Given the description of an element on the screen output the (x, y) to click on. 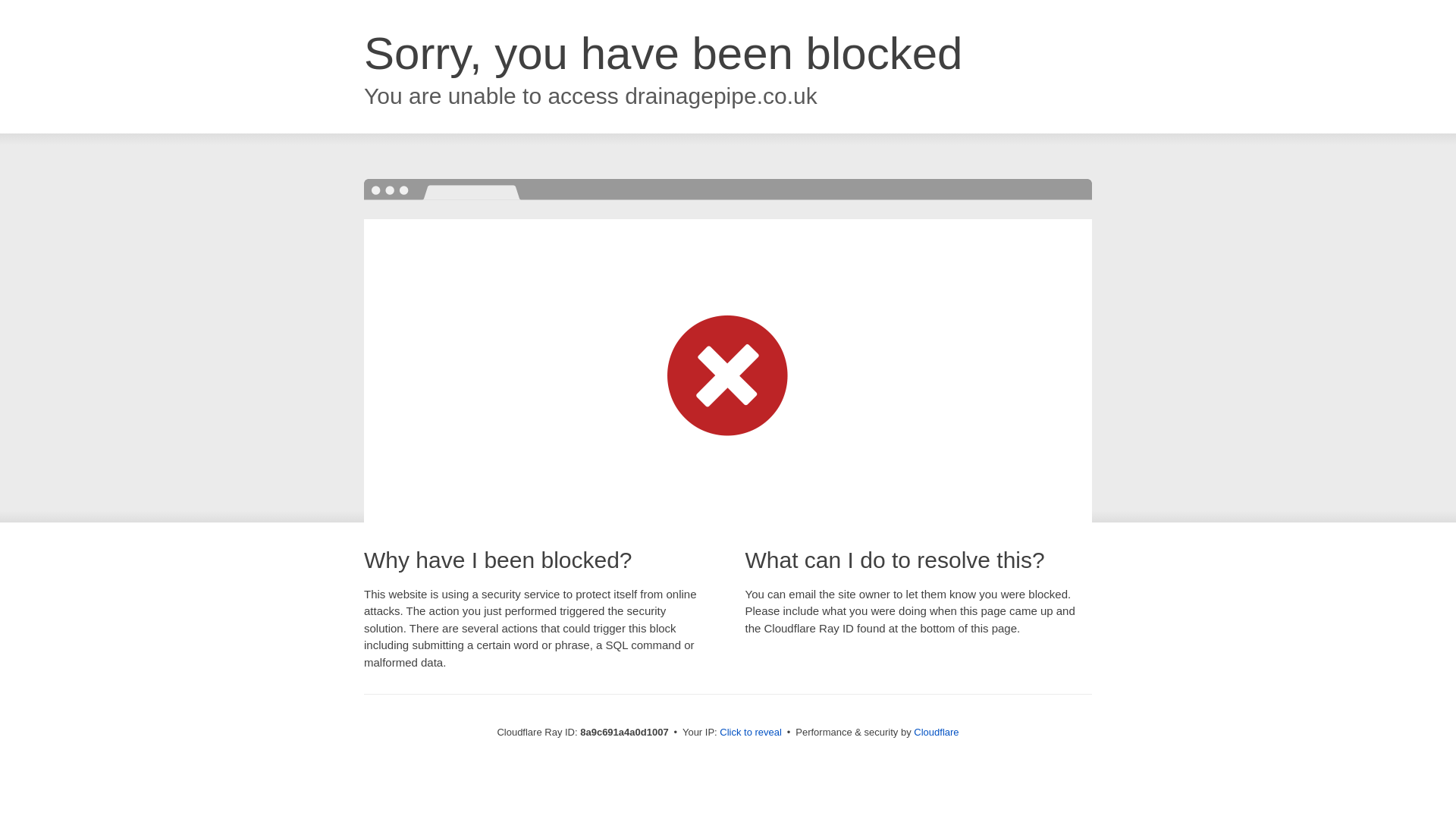
Cloudflare (936, 731)
Click to reveal (750, 732)
